Given the description of an element on the screen output the (x, y) to click on. 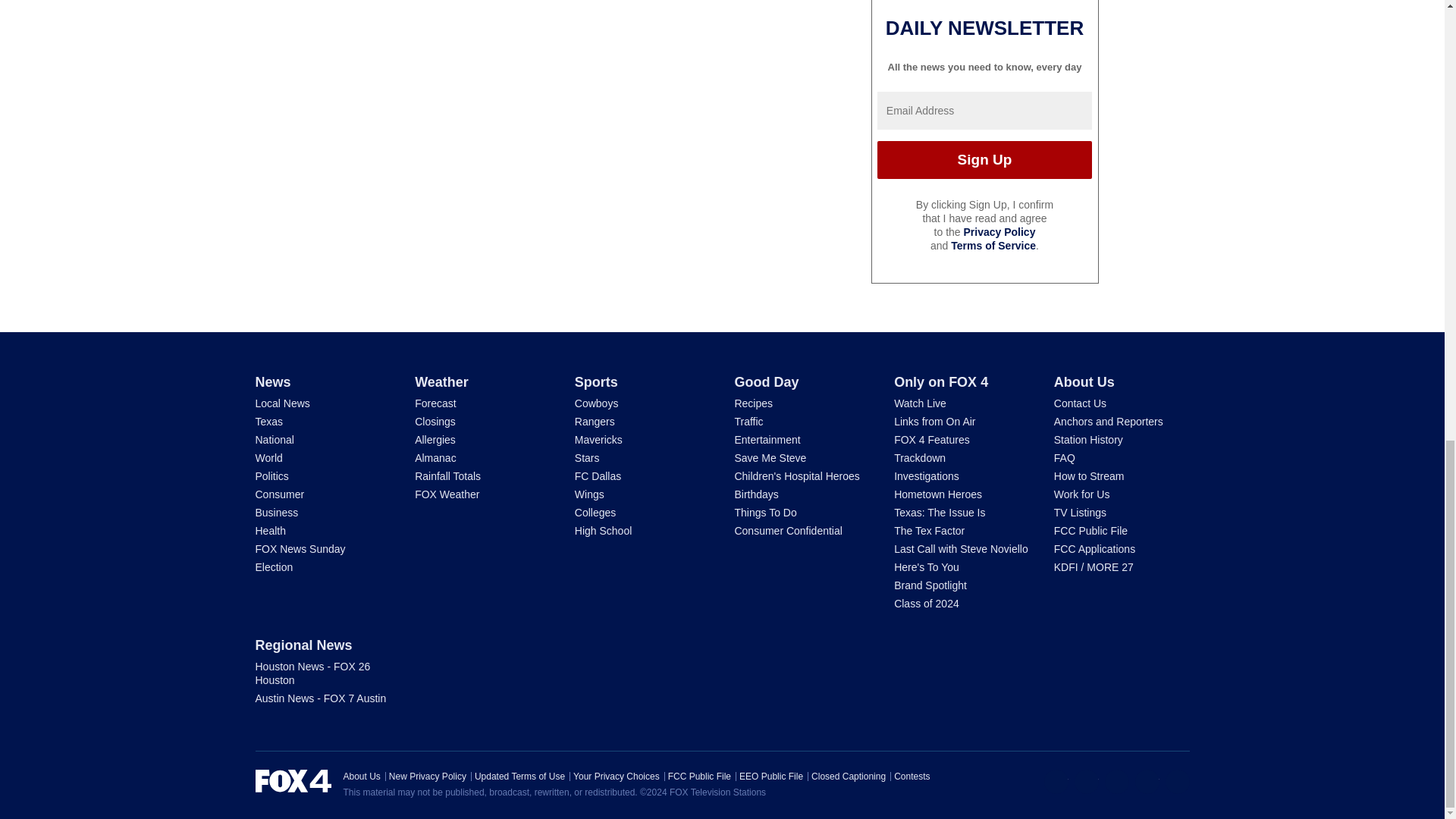
Sign Up (984, 159)
